Given the description of an element on the screen output the (x, y) to click on. 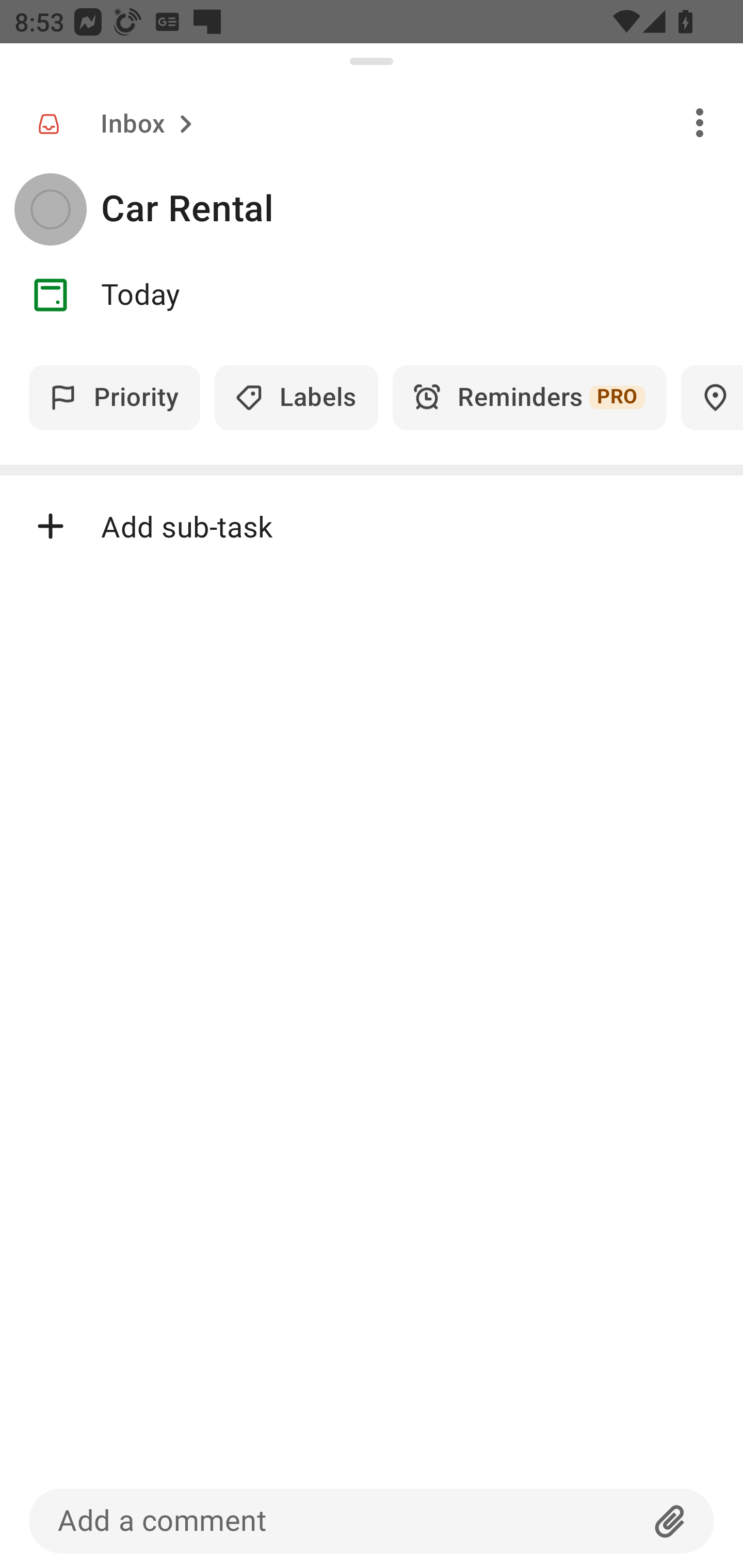
Overflow menu (699, 122)
Complete (50, 209)
Car Rental​ (422, 209)
Date Today (371, 295)
Priority (113, 397)
Labels (296, 397)
Reminders PRO (529, 397)
Locations PRO (712, 397)
Add sub-task (371, 525)
Add a comment Attachment (371, 1520)
Attachment (670, 1520)
